Given the description of an element on the screen output the (x, y) to click on. 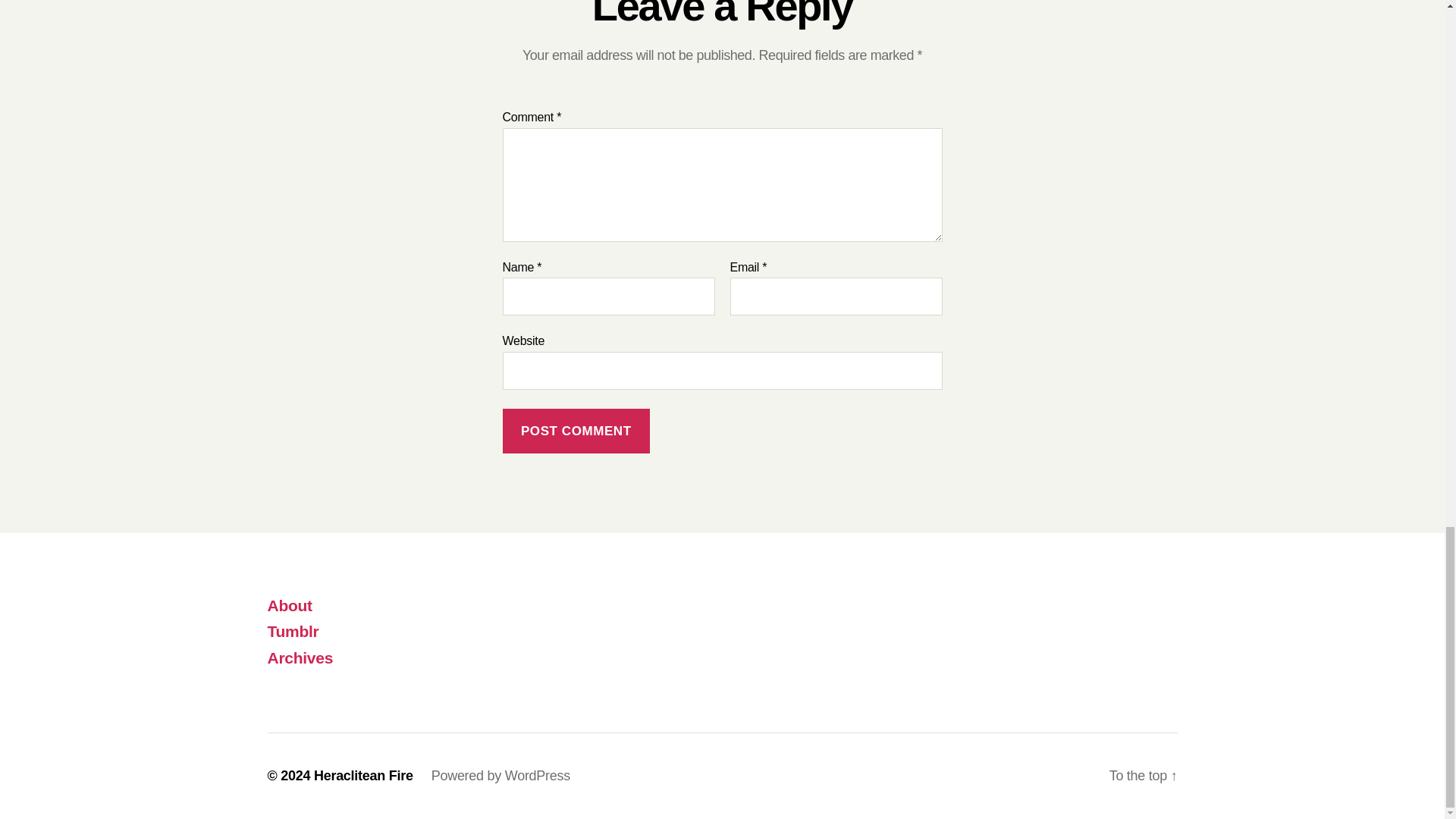
Powered by WordPress (500, 775)
Post Comment (575, 430)
About (288, 605)
Archives (299, 657)
Post Comment (575, 430)
Tumblr (292, 630)
Heraclitean Fire (363, 775)
